Given the description of an element on the screen output the (x, y) to click on. 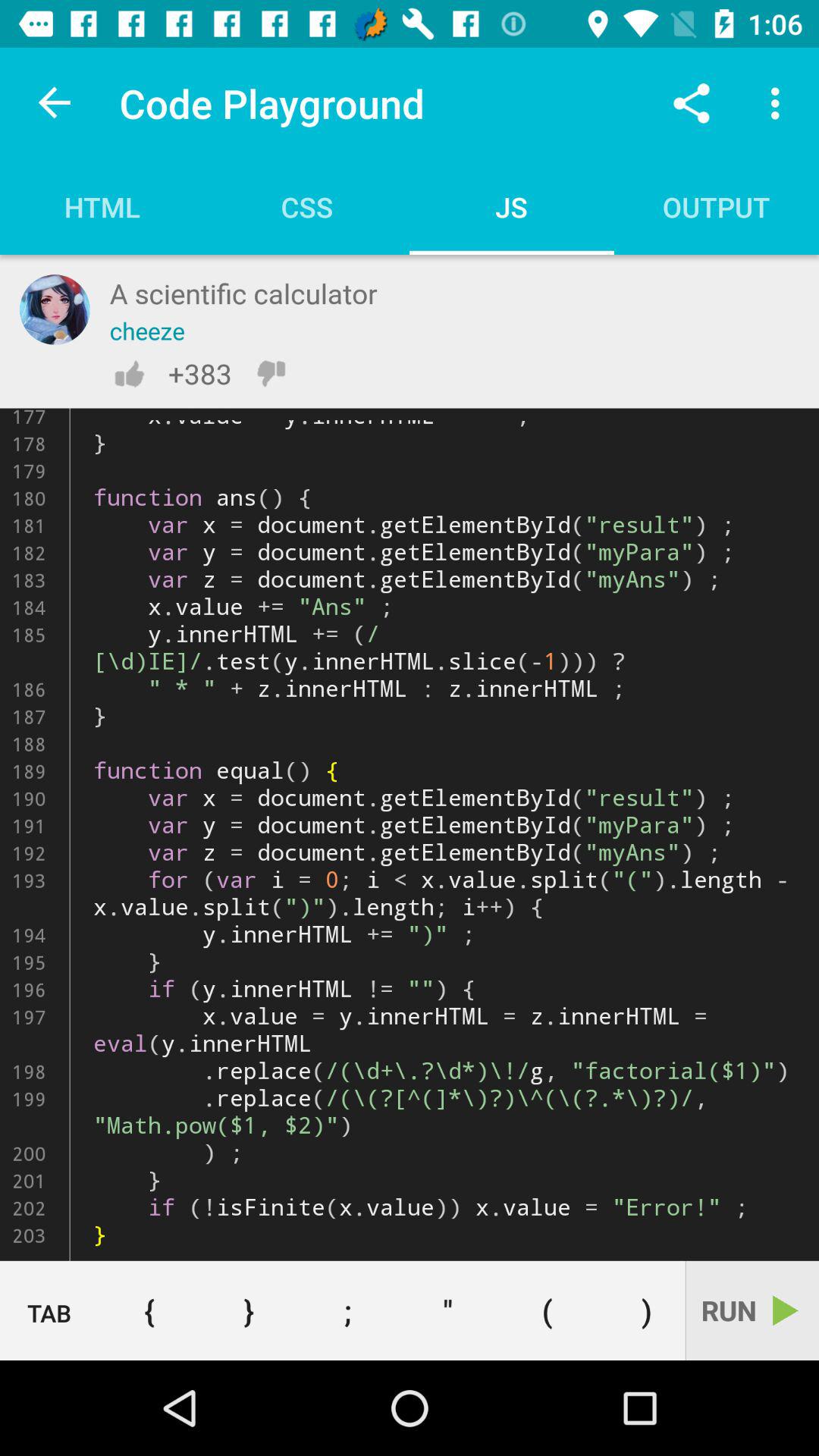
press the icon next to +383 (270, 373)
